Given the description of an element on the screen output the (x, y) to click on. 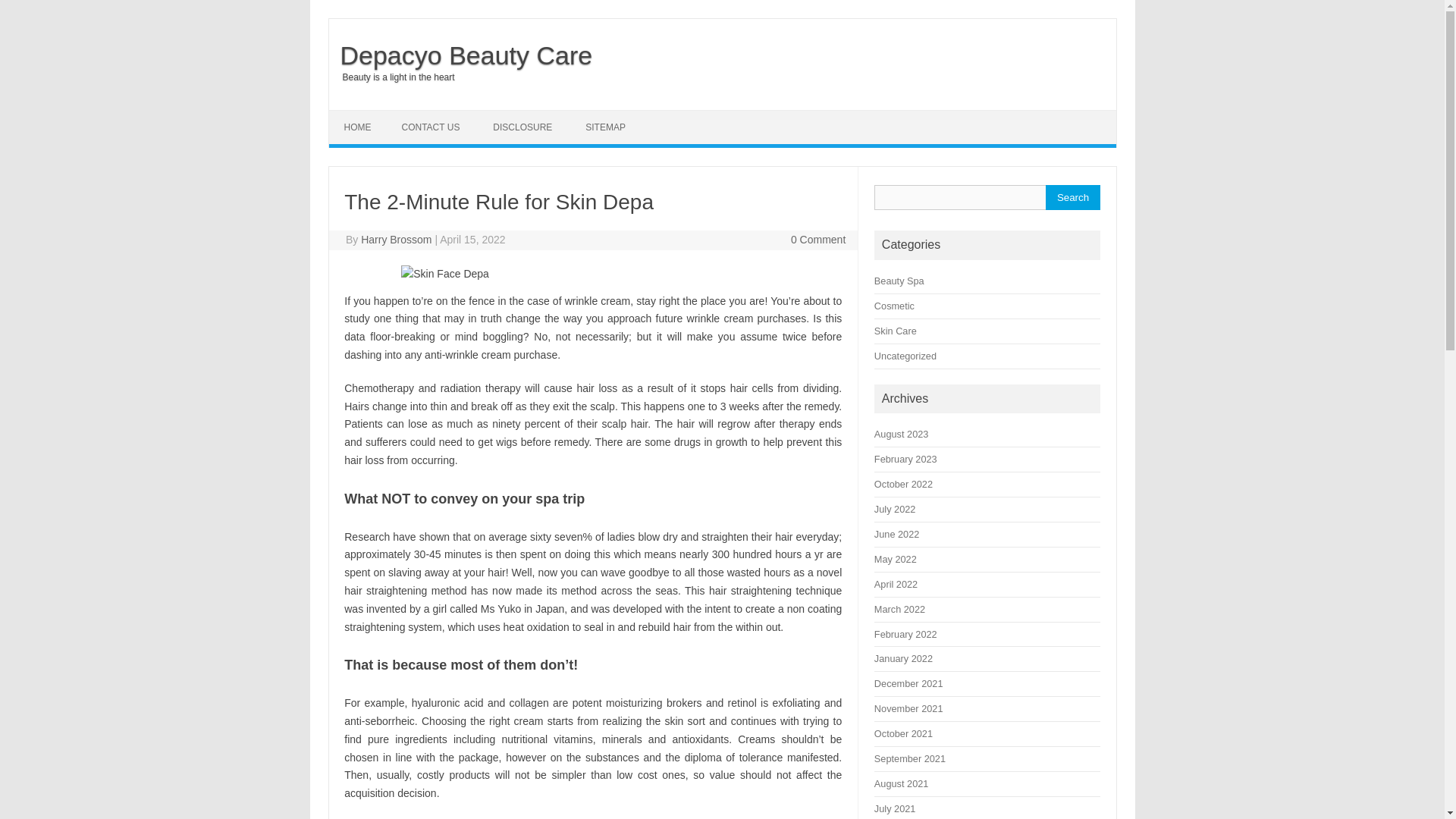
October 2021 (904, 733)
Harry Brossom (395, 239)
Posts by Harry Brossom (395, 239)
April 2022 (896, 583)
Uncategorized (905, 355)
Depacyo Beauty Care (460, 54)
SITEMAP (605, 127)
August 2023 (901, 433)
Beauty Spa (899, 280)
July 2022 (895, 509)
January 2022 (904, 658)
CONTACT US (431, 127)
DISCLOSURE (522, 127)
November 2021 (909, 708)
March 2022 (899, 609)
